Given the description of an element on the screen output the (x, y) to click on. 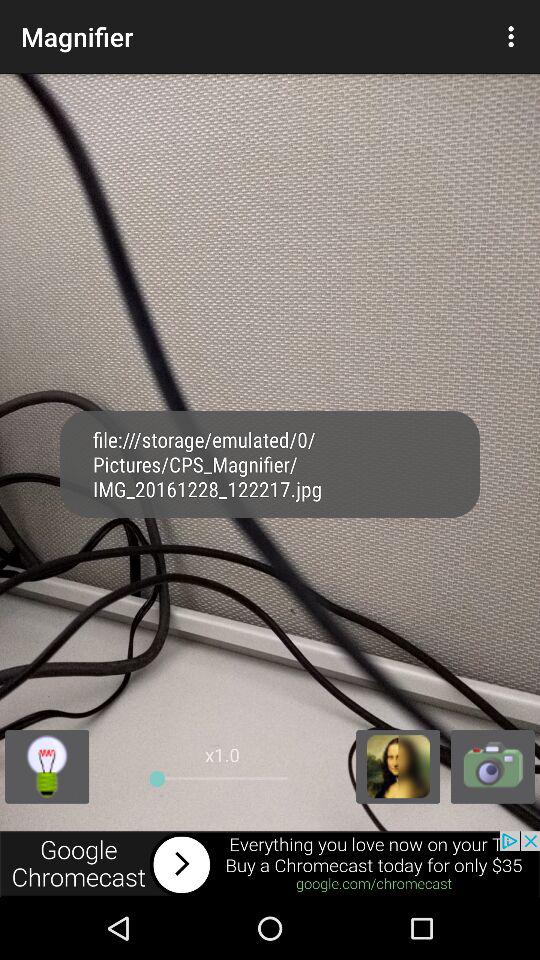
pictures (398, 766)
